Given the description of an element on the screen output the (x, y) to click on. 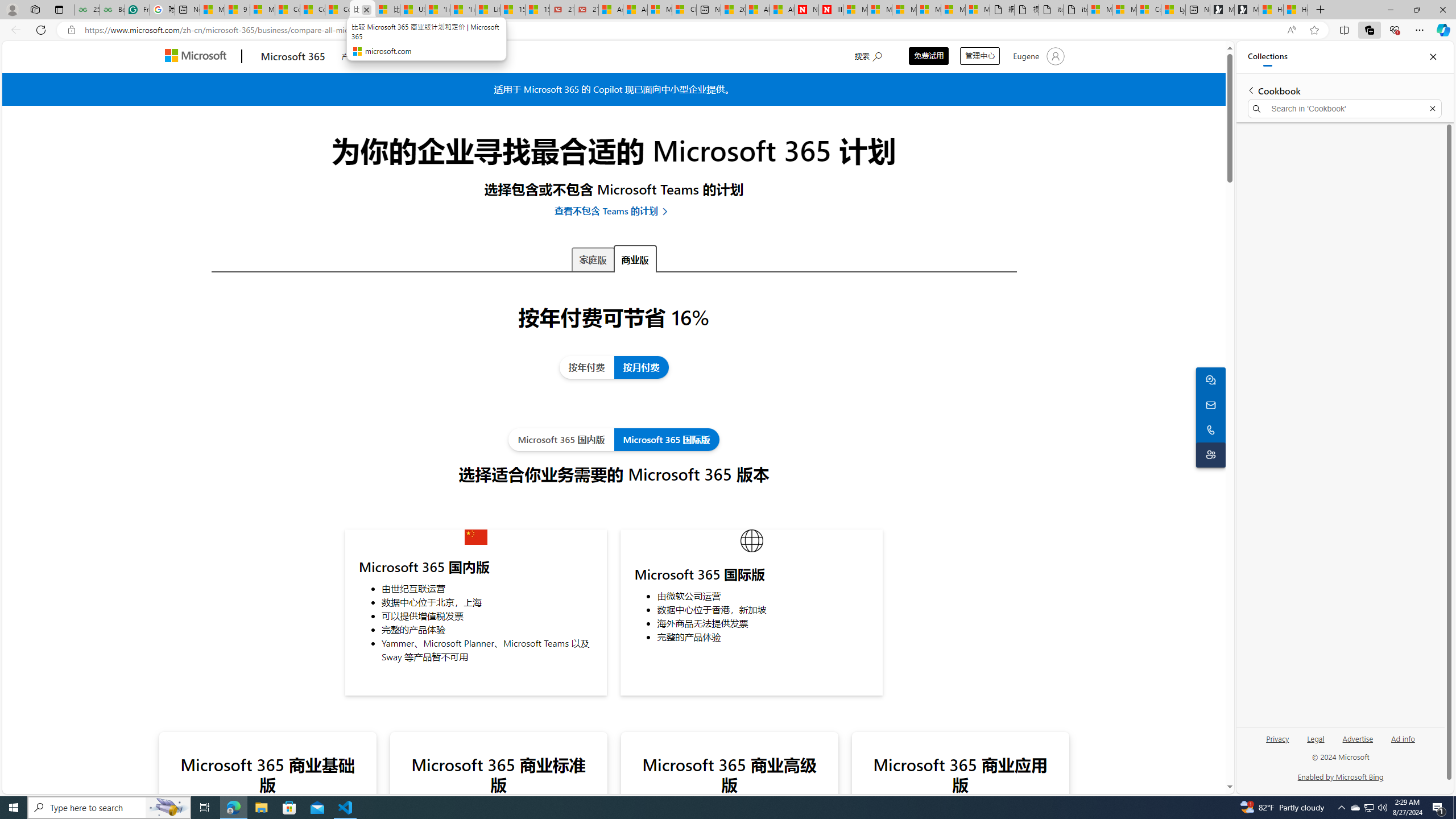
Newsweek - News, Analysis, Politics, Business, Technology (806, 9)
20 Ways to Boost Your Protein Intake at Every Meal (732, 9)
